Given the description of an element on the screen output the (x, y) to click on. 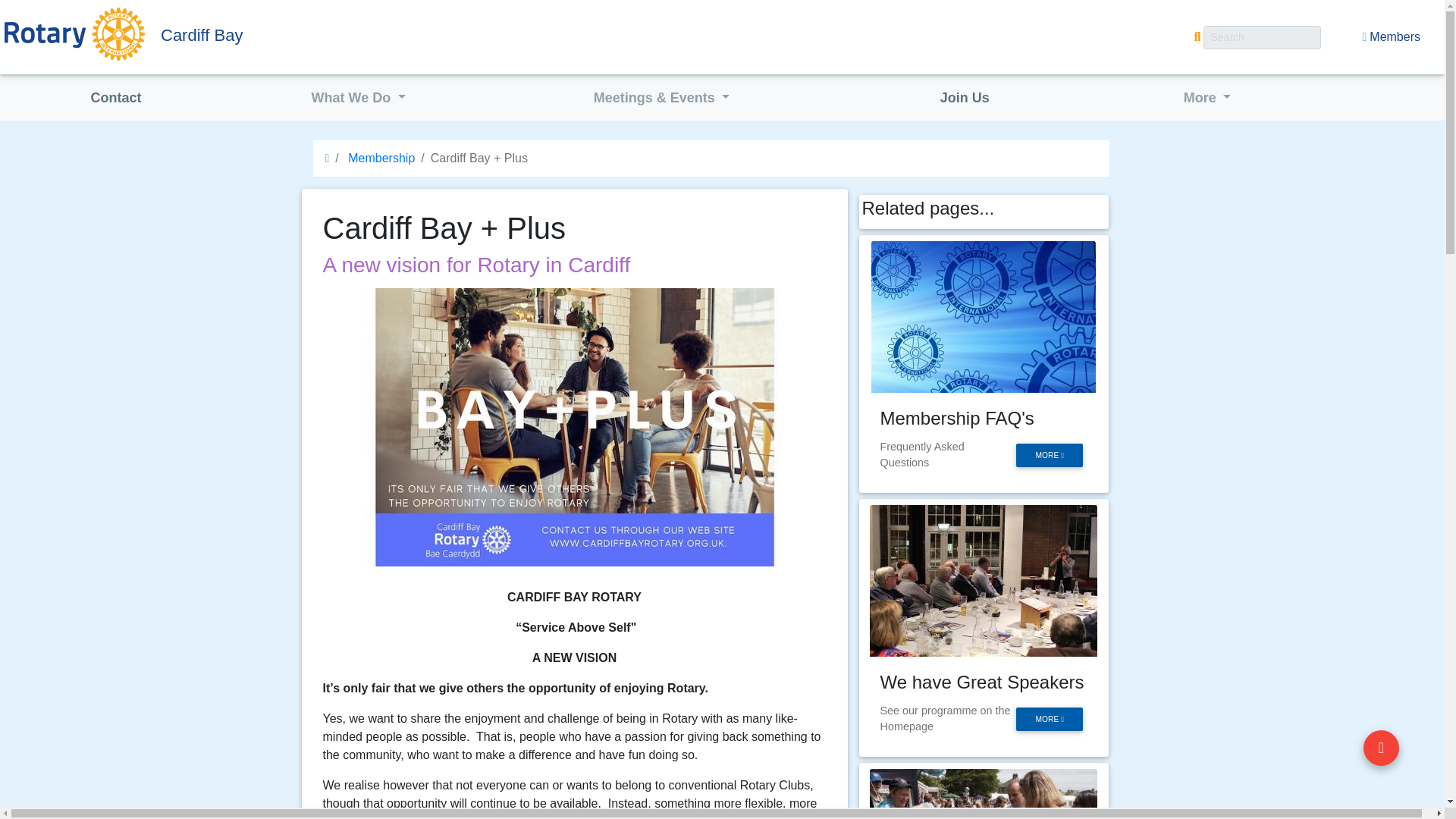
Cardiff Bay (299, 35)
What We Do (358, 97)
Contact (115, 97)
Members (1390, 37)
